Given the description of an element on the screen output the (x, y) to click on. 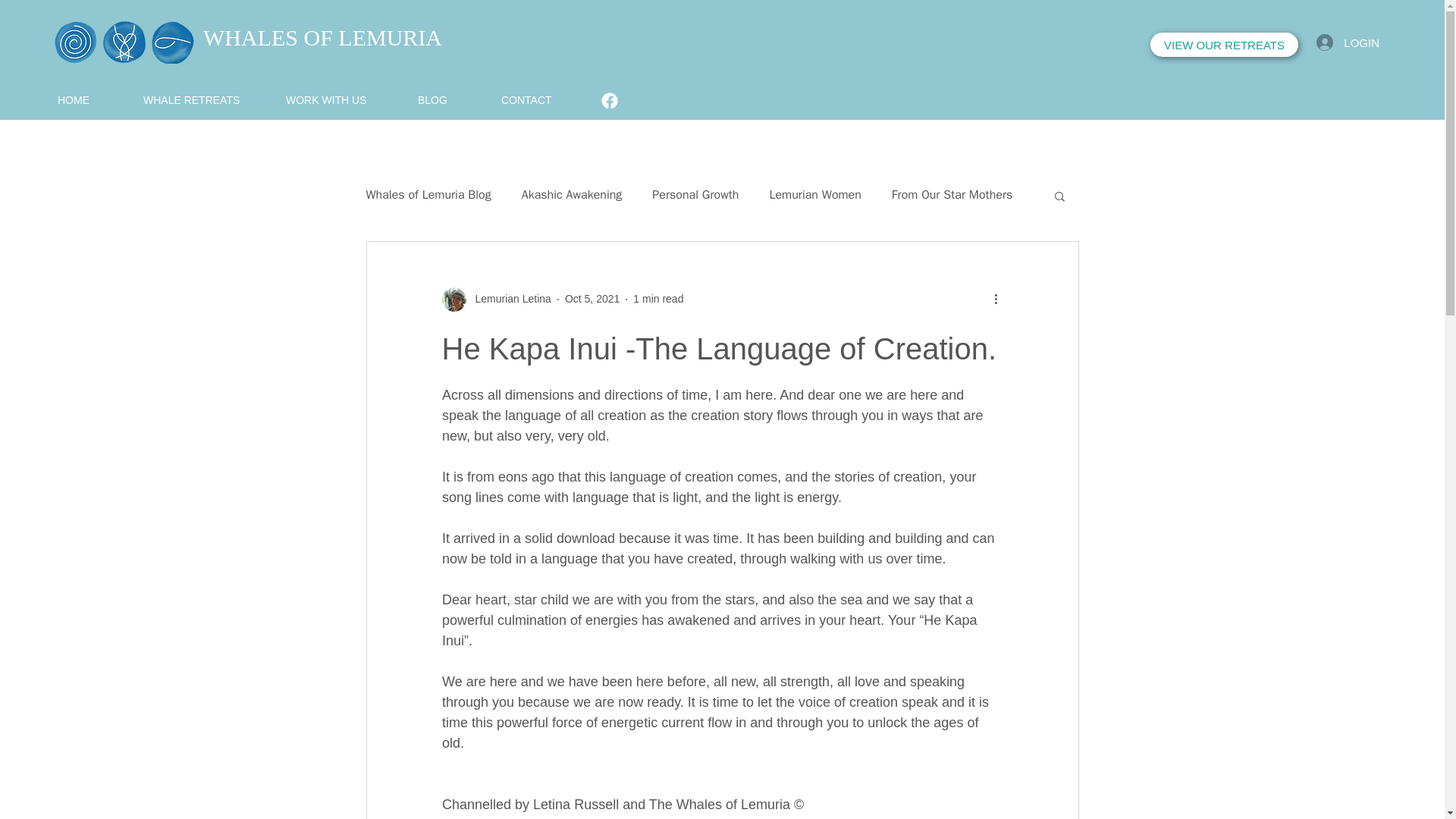
VIEW OUR RETREATS (1224, 44)
HOME (92, 98)
Personal Growth (695, 195)
Akashic Awakening (572, 195)
From Our Star Mothers (951, 195)
LOGIN (1348, 42)
Lemurian Women (814, 195)
CONTACT (545, 98)
WHALE RETREATS (206, 98)
Lemurian Letina (507, 299)
Whales of Lemuria Blog (427, 195)
1 min read (657, 298)
Lemurian Letina (495, 298)
BLOG (451, 98)
Oct 5, 2021 (592, 298)
